Given the description of an element on the screen output the (x, y) to click on. 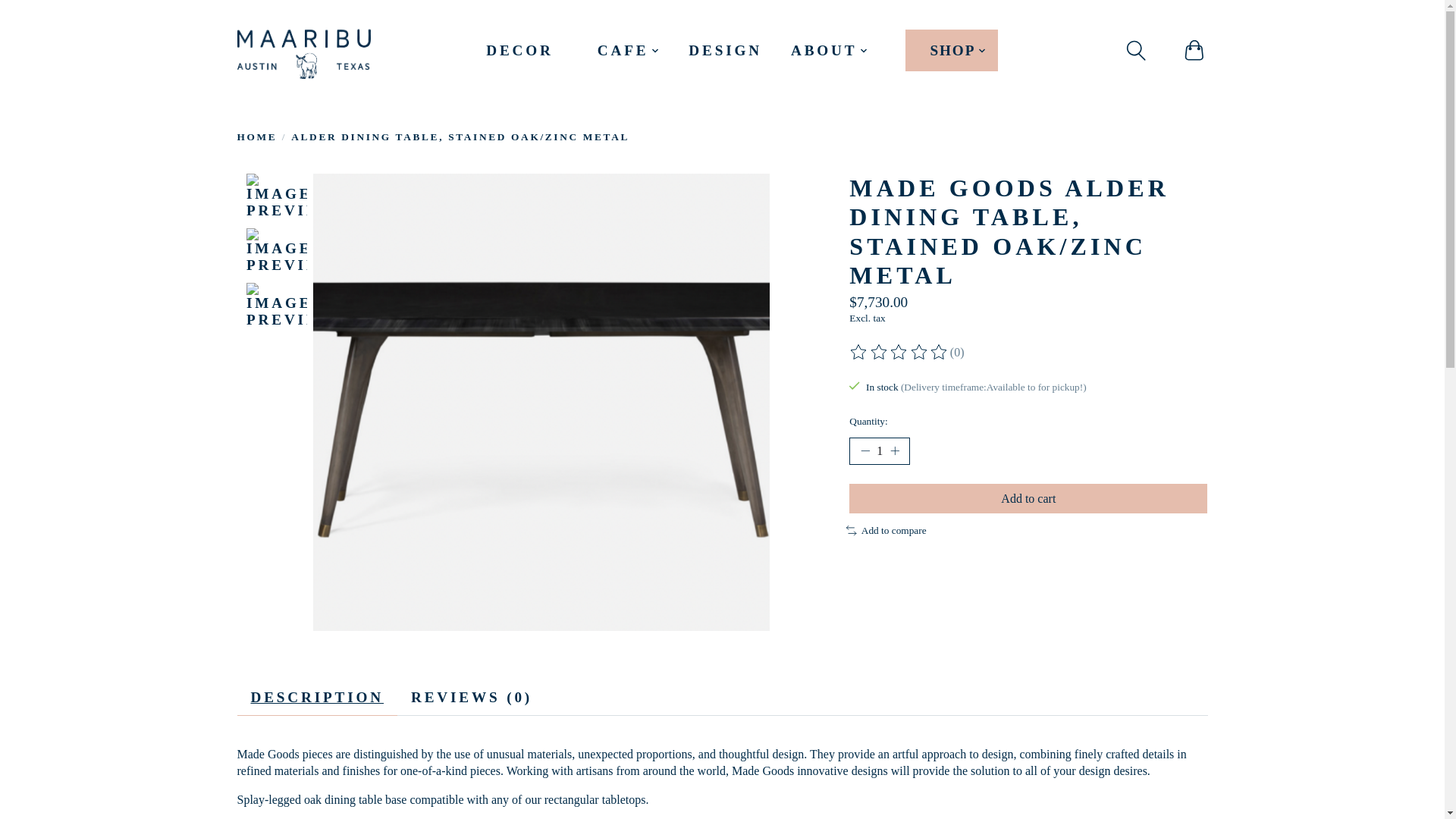
DESIGN (724, 50)
SHOP (951, 50)
1 (879, 451)
DECOR (519, 50)
CAFE (628, 50)
Maaribu (302, 50)
ABOUT (829, 50)
